Given the description of an element on the screen output the (x, y) to click on. 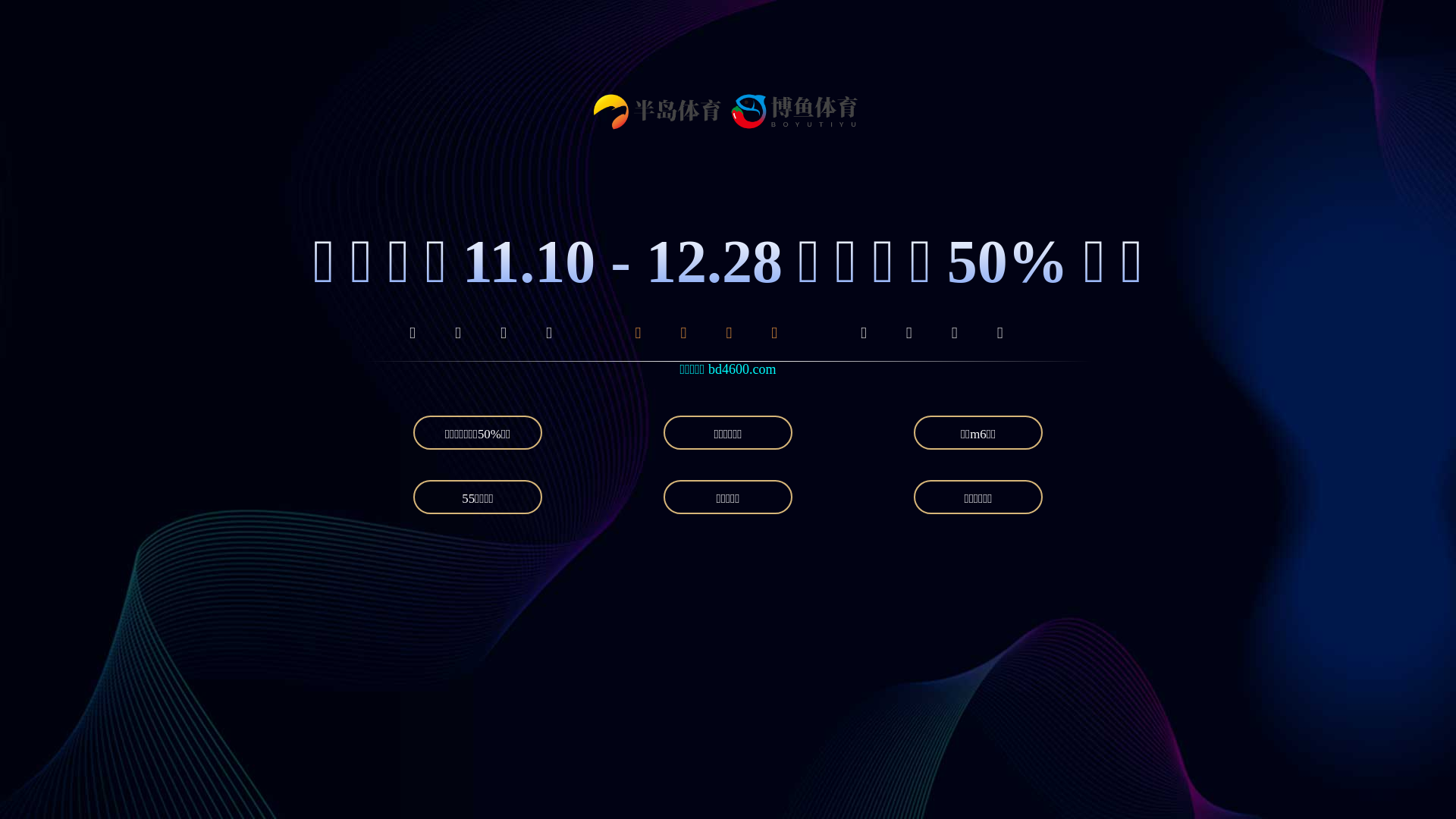
English Element type: text (1067, 162)
